Given the description of an element on the screen output the (x, y) to click on. 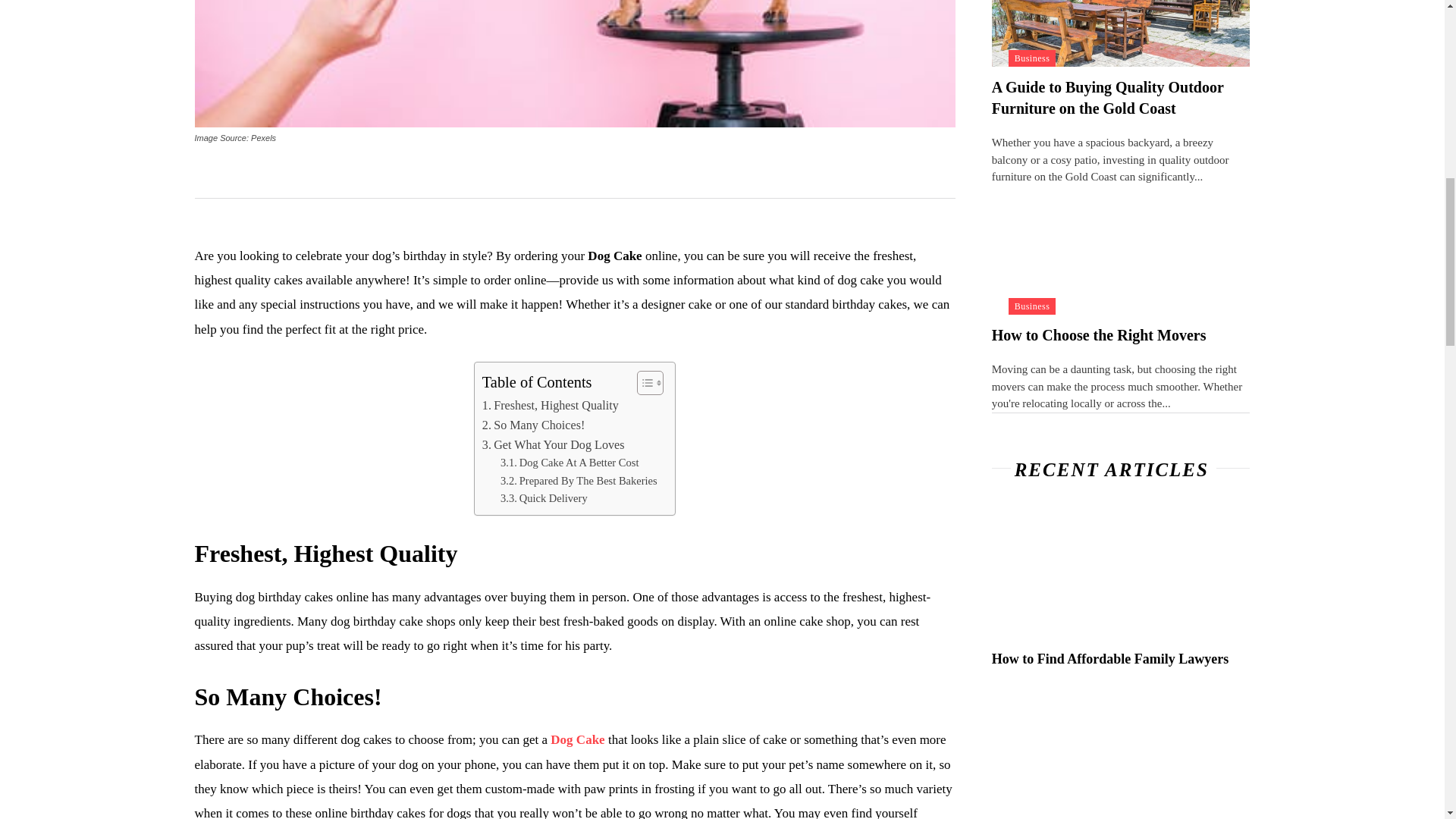
Freshest, Highest Quality (549, 405)
Quick Delivery (544, 497)
Dog Cake At A Better Cost (569, 462)
Freshest, Highest Quality (549, 405)
dog cake (574, 63)
So Many Choices! (533, 424)
So Many Choices! (533, 424)
